Given the description of an element on the screen output the (x, y) to click on. 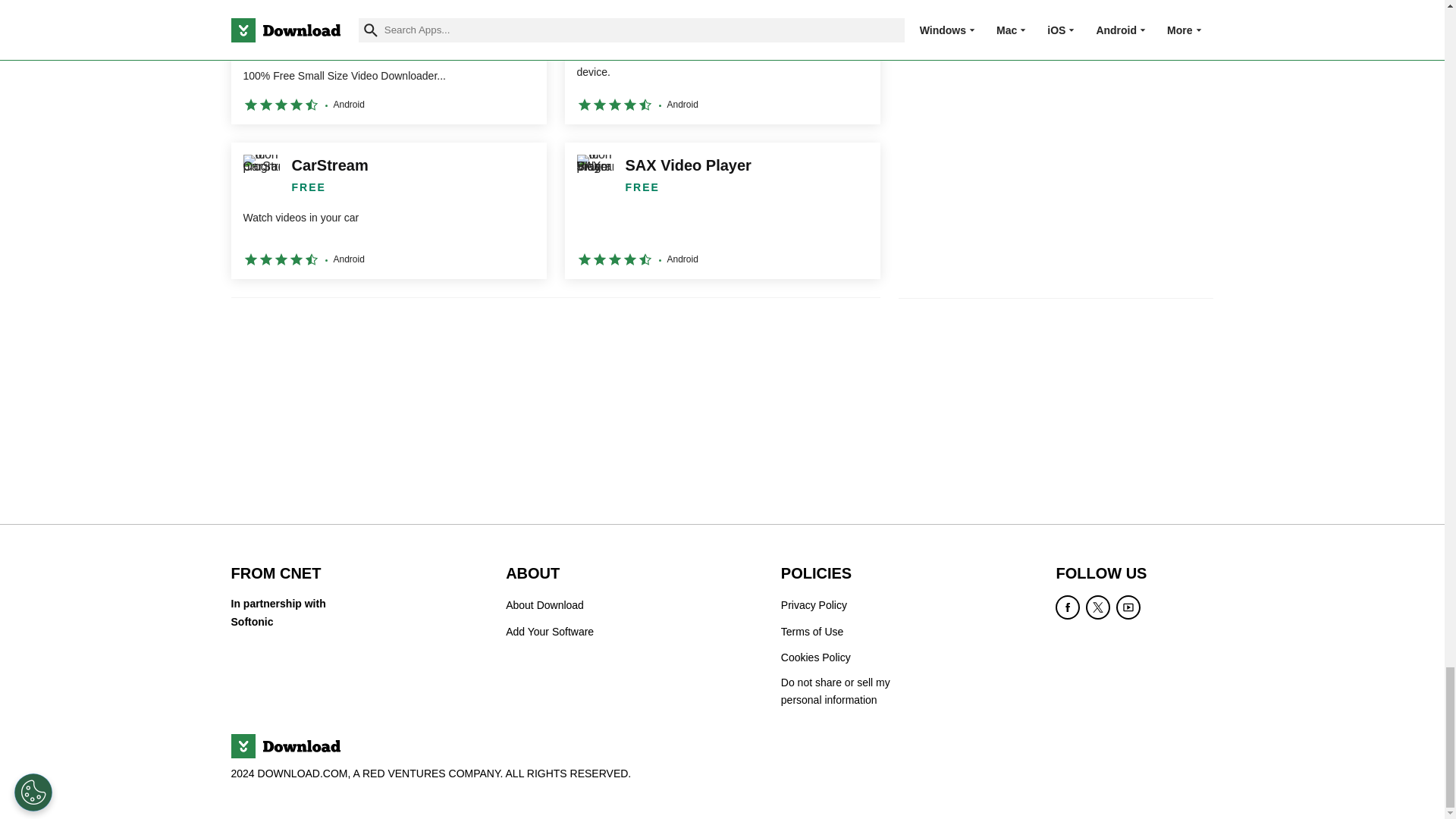
CarStream (388, 210)
XX Hot Video Downloader : XXVI Video Download 2020 (388, 62)
XXX Video Player - HD X Player (721, 62)
SAX Video Player (721, 210)
Download.com (284, 745)
